Given the description of an element on the screen output the (x, y) to click on. 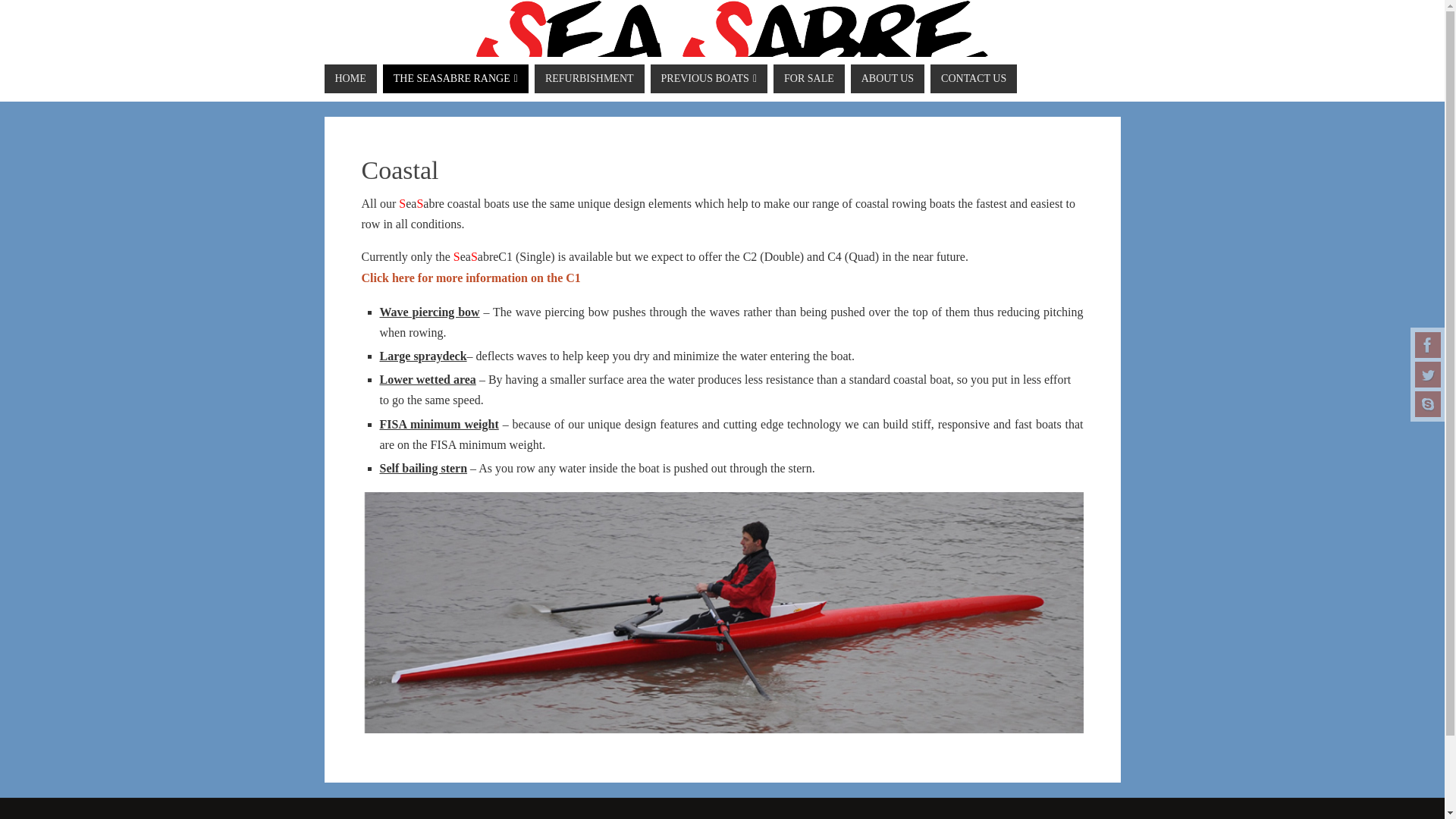
Click here for more information on the C1 (470, 277)
CONTACT US (973, 78)
REFURBISHMENT (589, 78)
HOME (350, 78)
SeaSabre Facebook page (1428, 344)
PREVIOUS BOATS (708, 78)
FOR SALE (808, 78)
ABOUT US (887, 78)
Skype (1428, 403)
THE SEASABRE RANGE (455, 78)
